Given the description of an element on the screen output the (x, y) to click on. 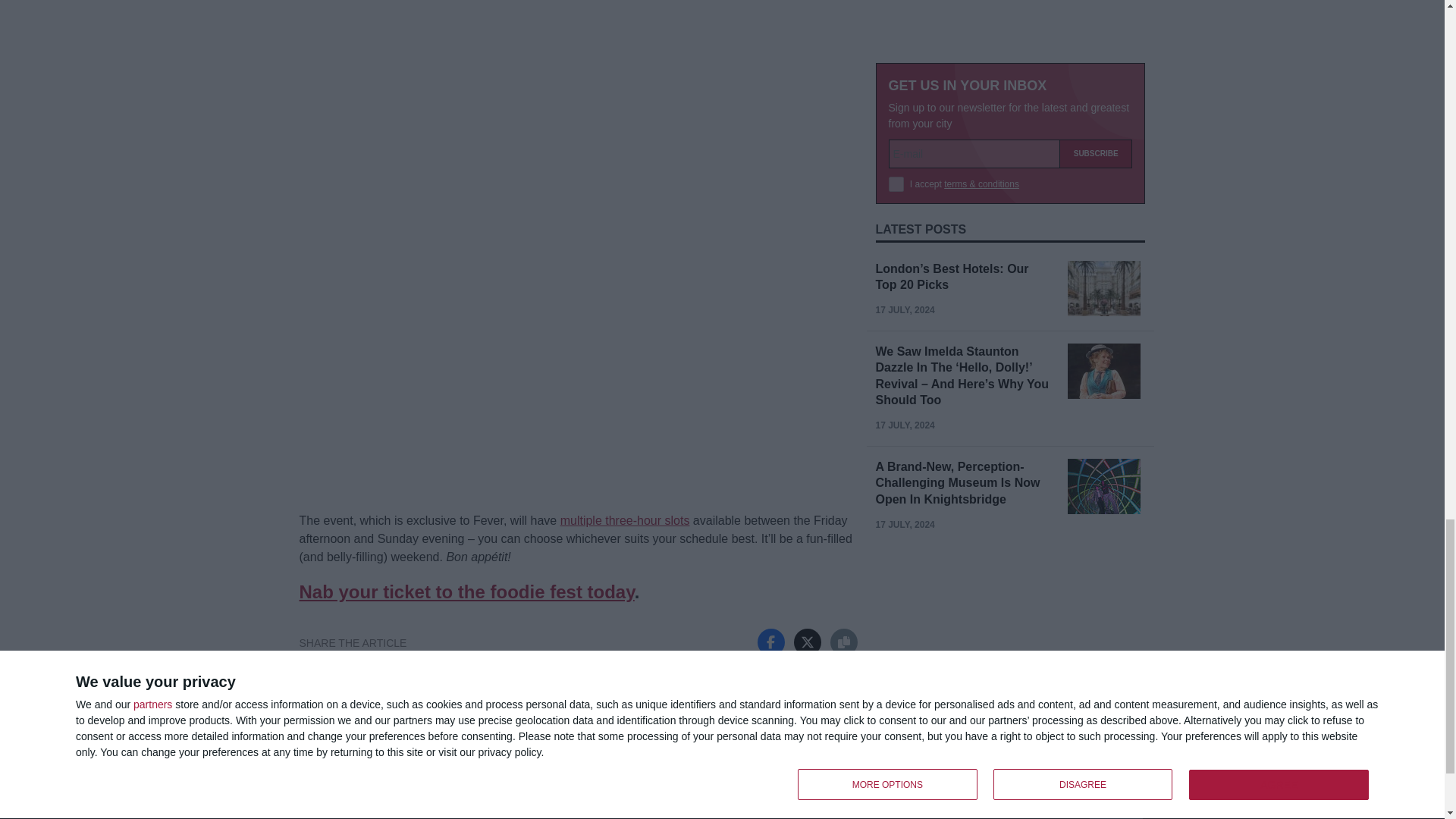
multiple three-hour slots (625, 520)
Nab your ticket to the foodie fest today (465, 591)
